Given the description of an element on the screen output the (x, y) to click on. 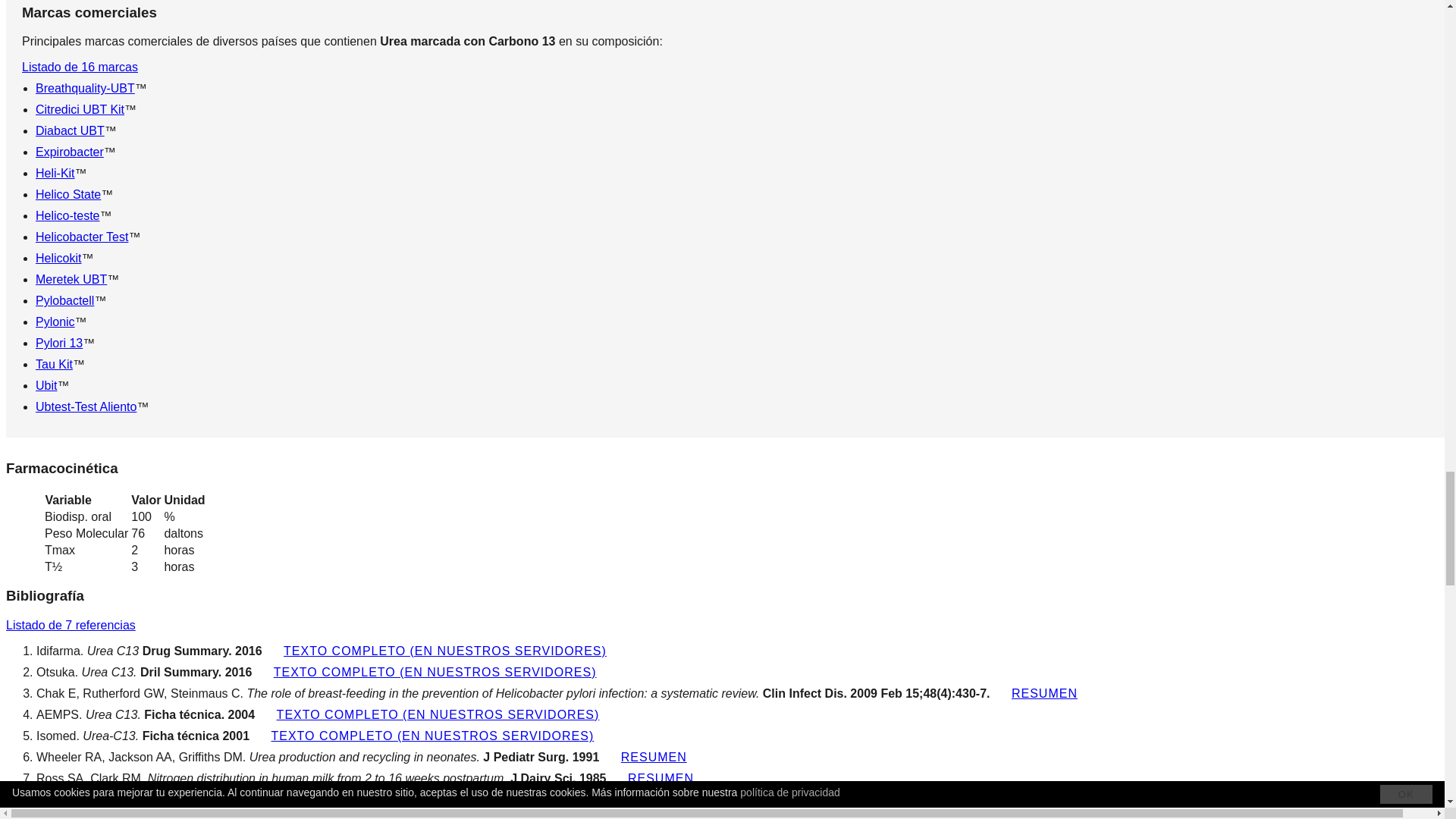
Diabact UBT (69, 130)
Breathquality-UBT (84, 88)
Heli-Kit (54, 173)
Helico State (67, 194)
Citredici UBT Kit (78, 109)
Helico-teste (66, 215)
Tau Kit (53, 364)
Pylobactell (64, 300)
Meretek UBT (70, 278)
Pylonic (54, 321)
Pylori 13 (58, 342)
Helicobacter Test (81, 236)
Helicokit (57, 257)
Expirobacter (68, 151)
Listado de 16 marcas (79, 66)
